Given the description of an element on the screen output the (x, y) to click on. 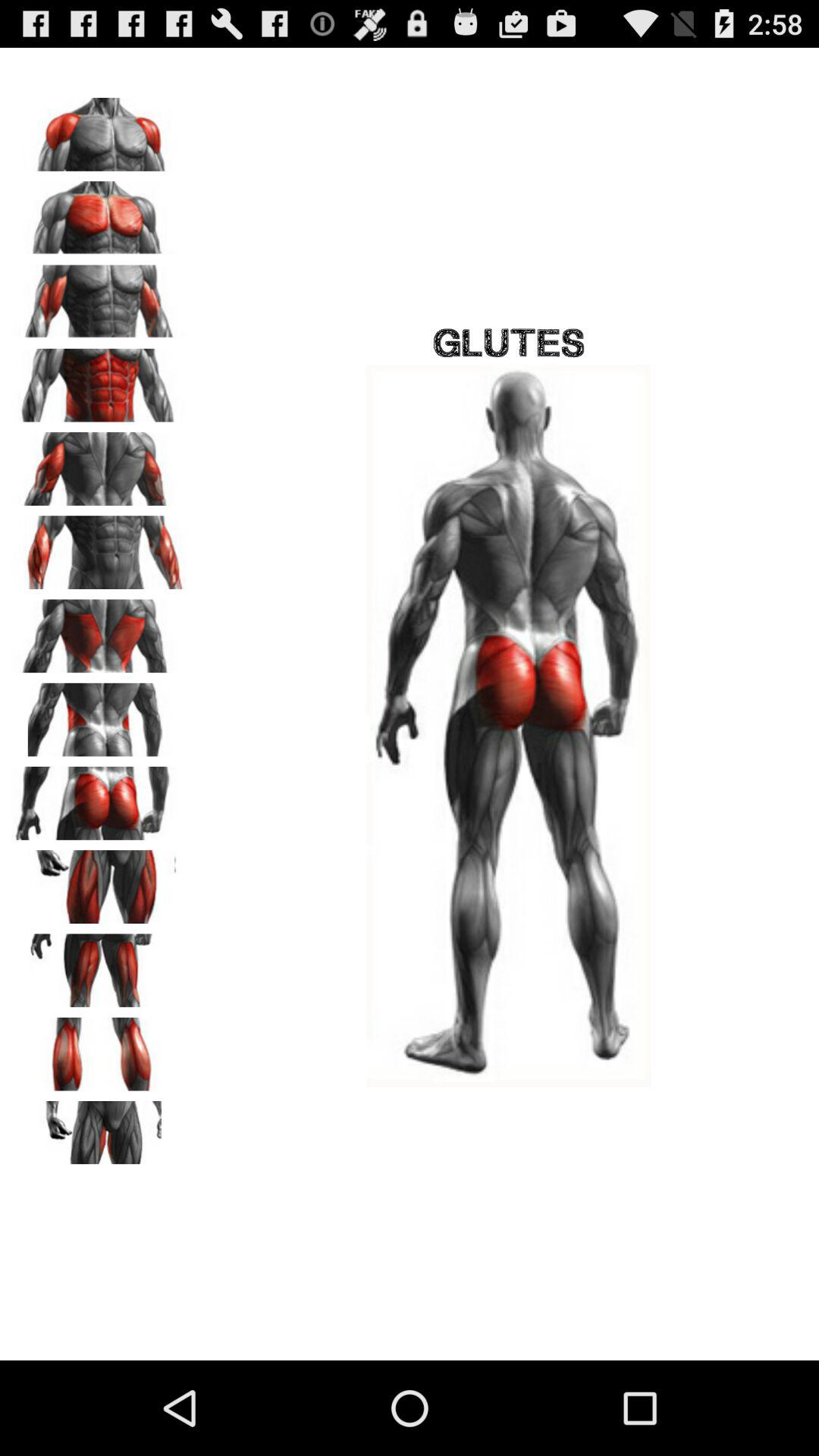
select muscle area (99, 630)
